Given the description of an element on the screen output the (x, y) to click on. 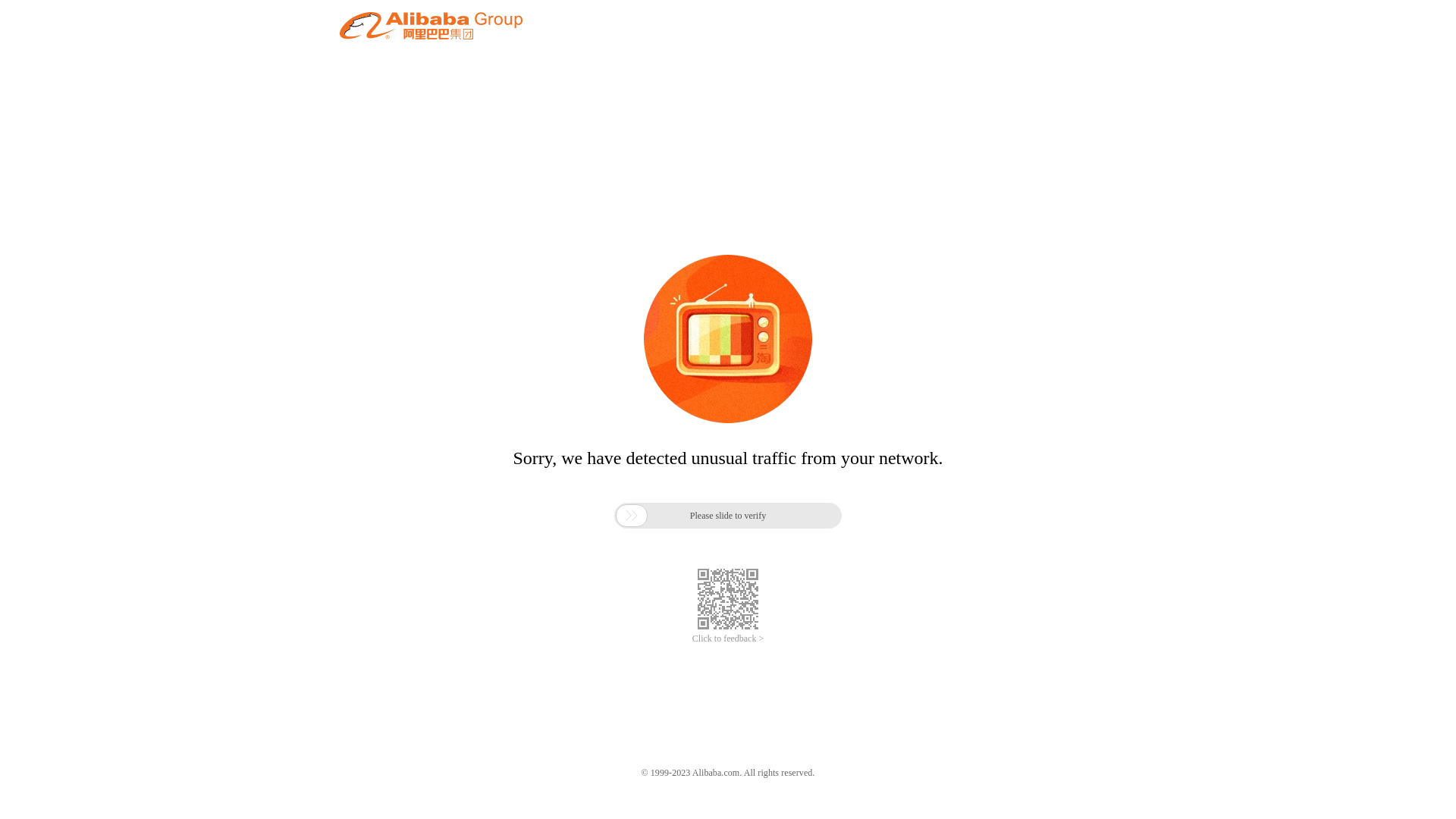
Click to feedback > Element type: text (727, 638)
